Given the description of an element on the screen output the (x, y) to click on. 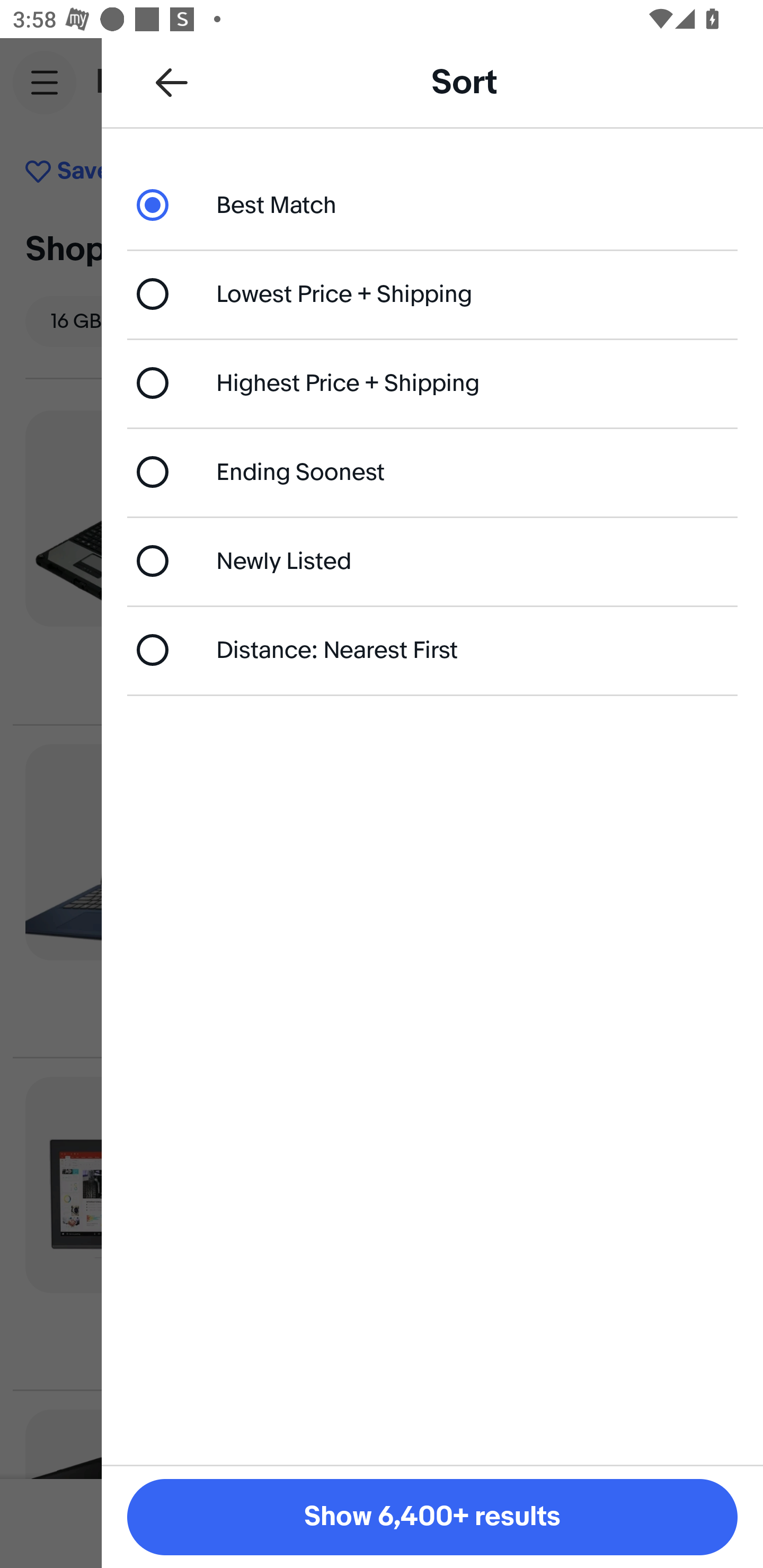
Back to all refinements (171, 81)
Best Match - currently selected Best Match (432, 204)
Lowest Price + Shipping (432, 293)
Highest Price + Shipping (432, 383)
Ending Soonest (432, 471)
Newly Listed (432, 560)
Distance: Nearest First (432, 649)
Show 6,400+ results (432, 1516)
